Given the description of an element on the screen output the (x, y) to click on. 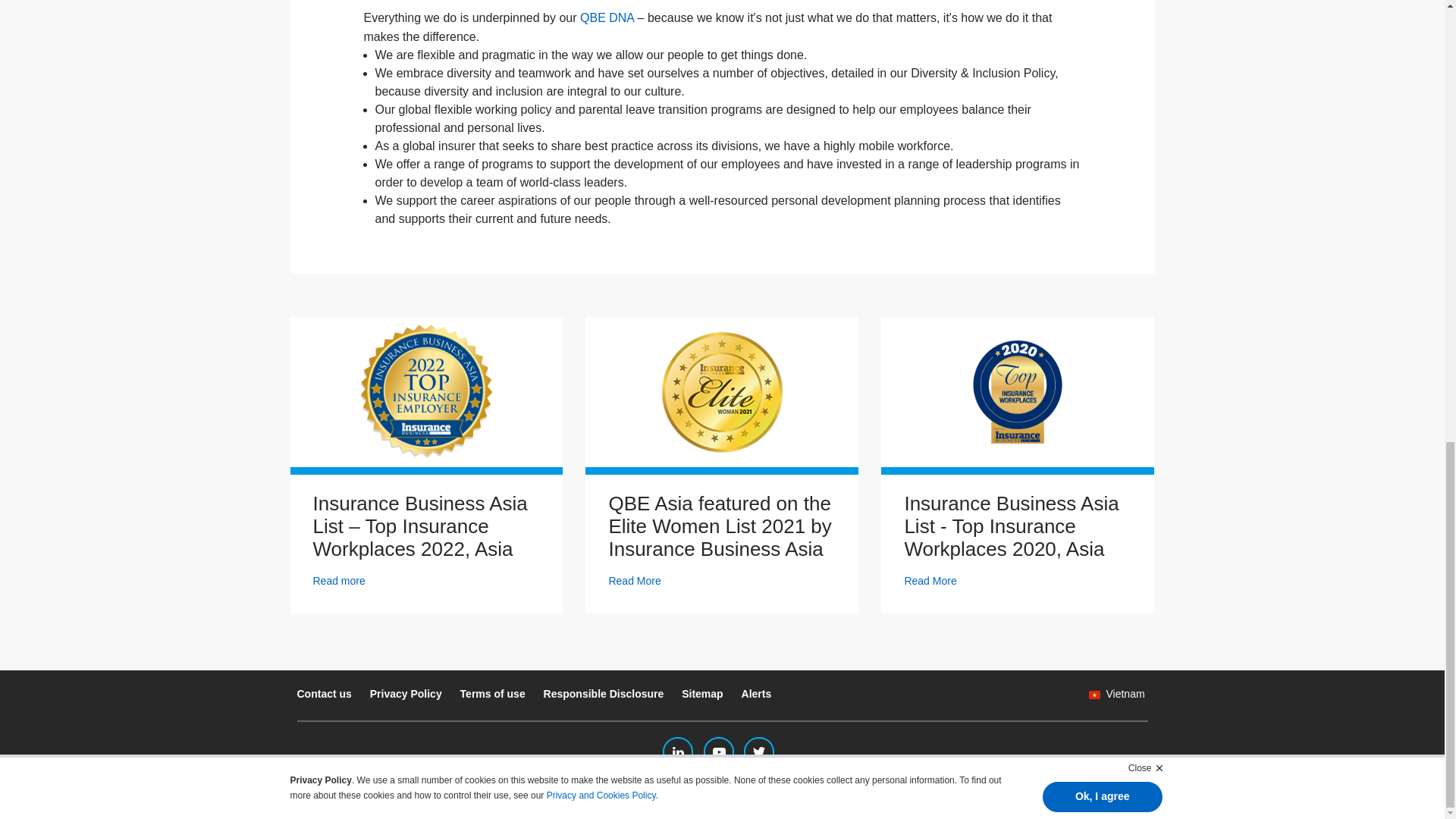
qbe linkedin (677, 752)
qbe youtube (718, 752)
qbe twitter (759, 752)
